Given the description of an element on the screen output the (x, y) to click on. 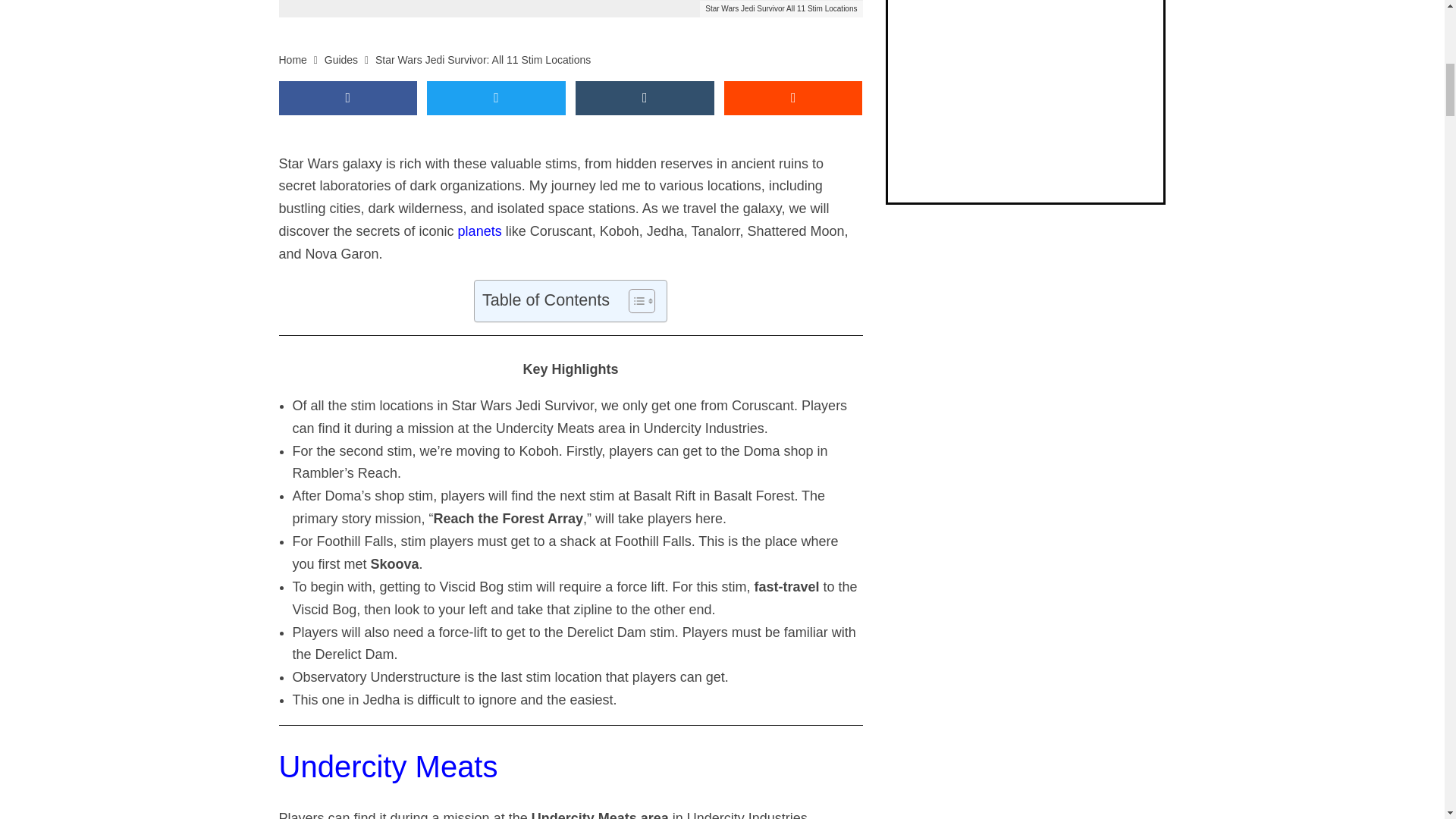
planets (480, 231)
Guides (341, 60)
Home (293, 60)
